Given the description of an element on the screen output the (x, y) to click on. 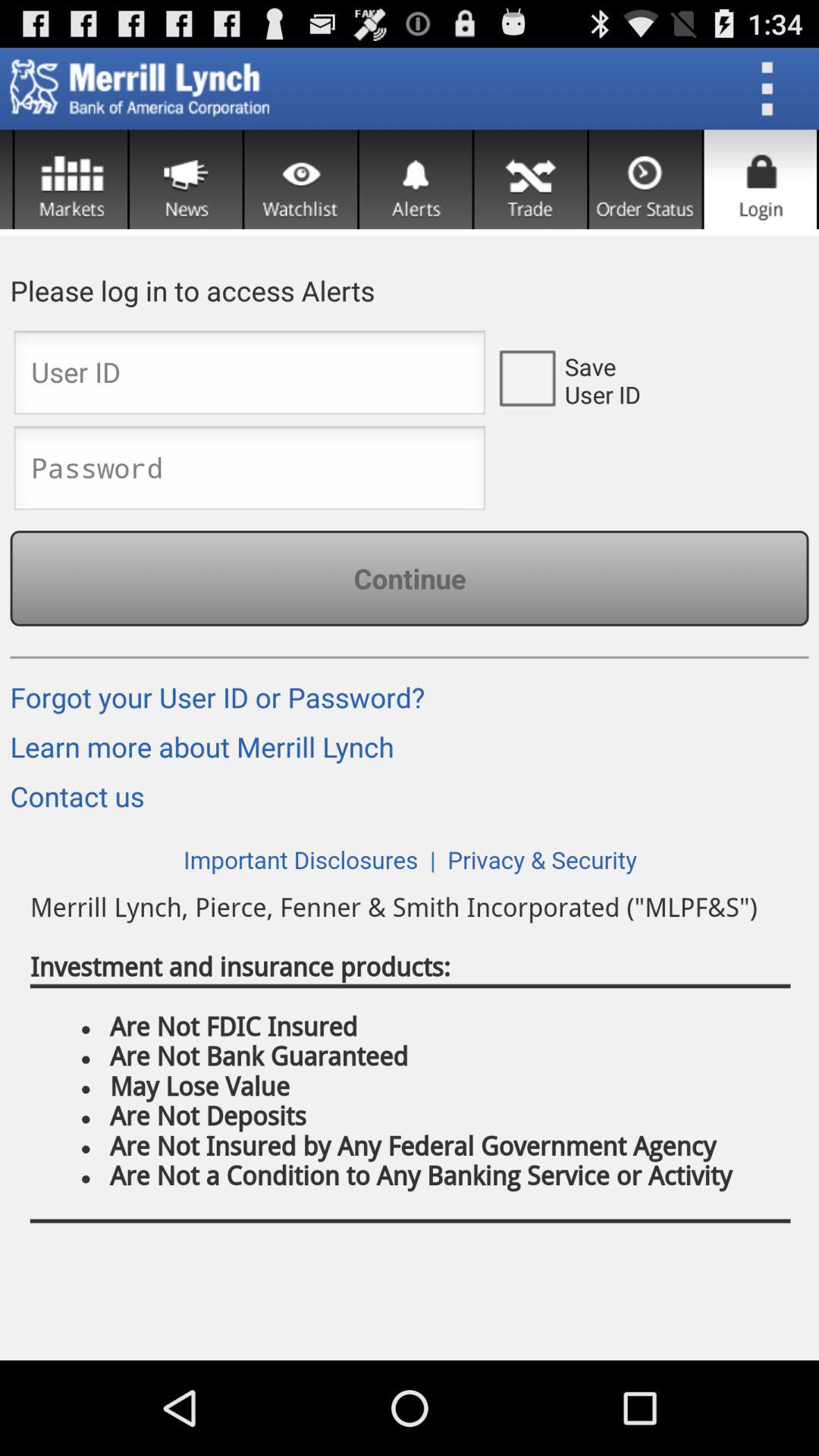
bell button (415, 179)
